Given the description of an element on the screen output the (x, y) to click on. 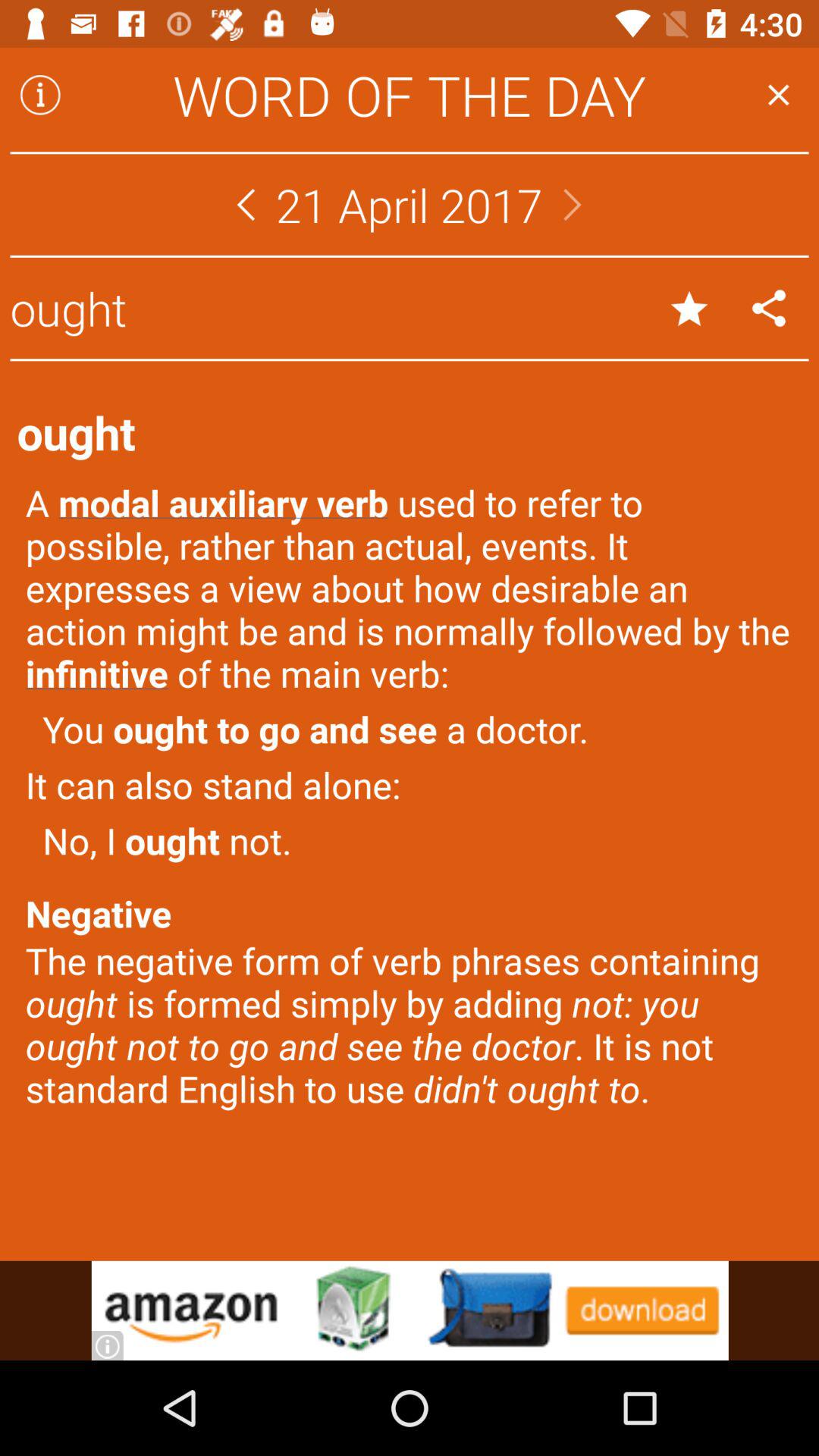
fautrote of option (689, 307)
